Given the description of an element on the screen output the (x, y) to click on. 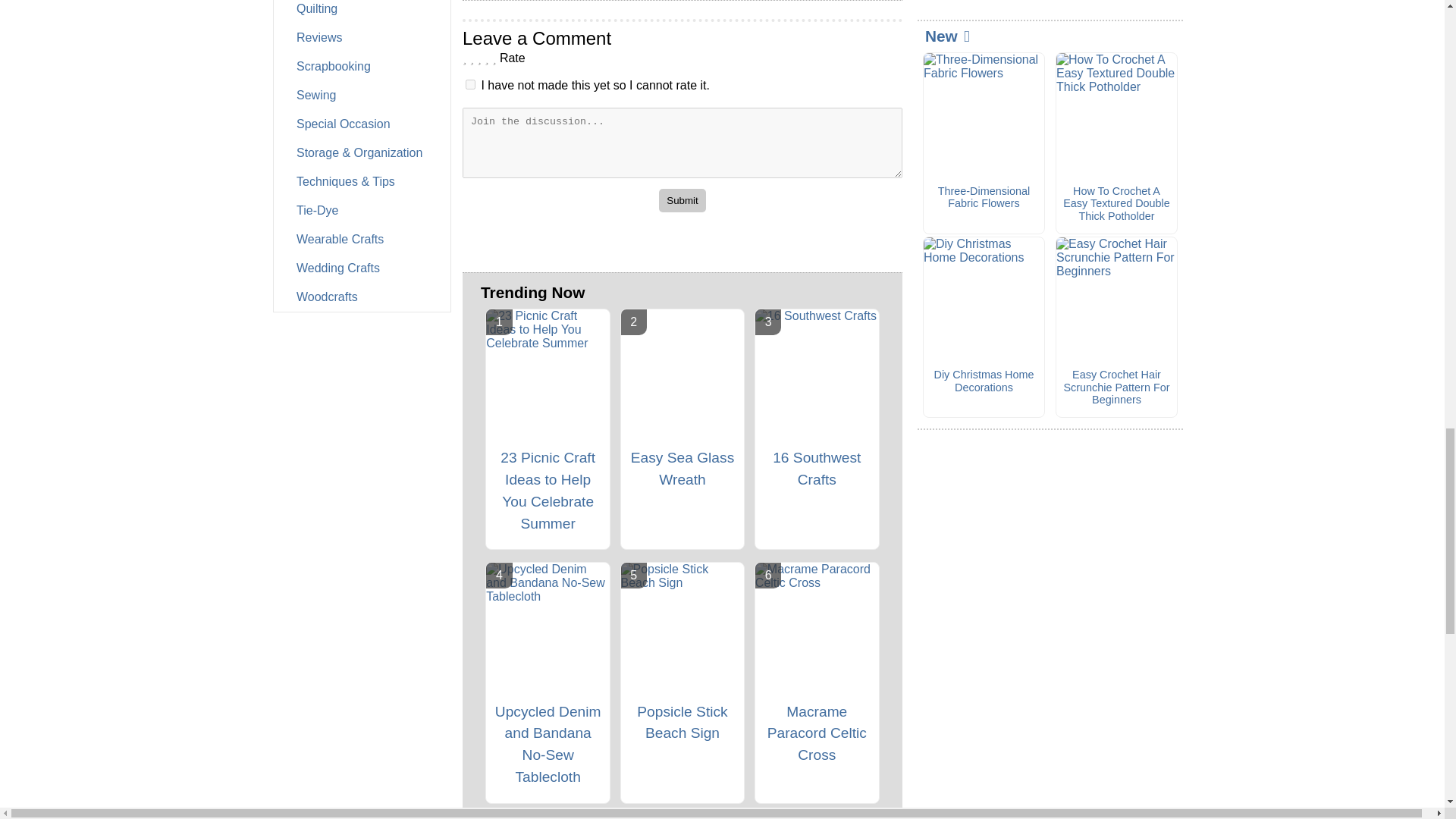
Submit (681, 199)
1 (470, 84)
